Given the description of an element on the screen output the (x, y) to click on. 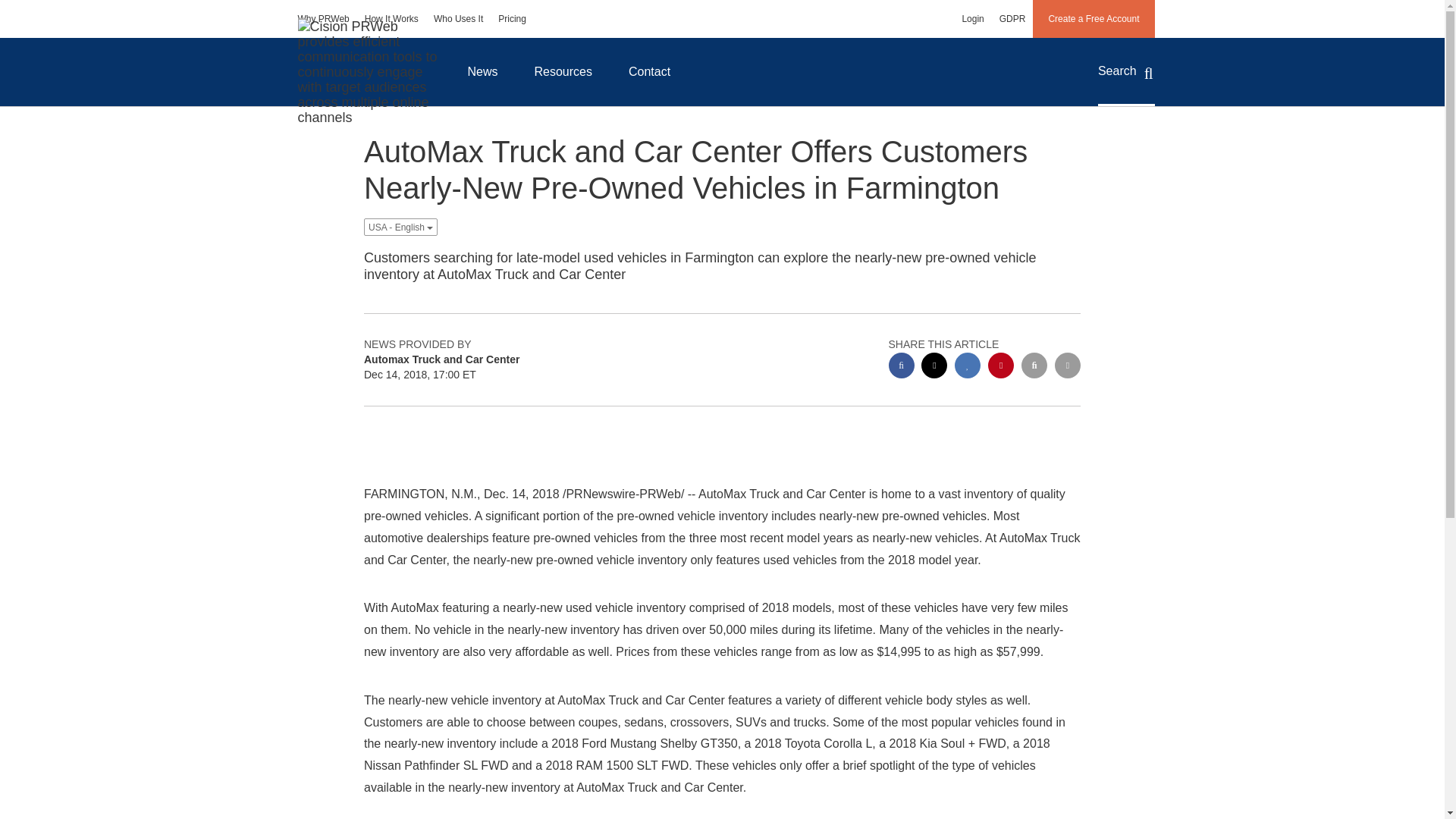
Create a Free Account (1093, 18)
Pricing (512, 18)
Why PRWeb (322, 18)
Login (972, 18)
GDPR (1012, 18)
Who Uses It (458, 18)
How It Works (391, 18)
Resources (563, 71)
News (481, 71)
Contact (649, 71)
